Given the description of an element on the screen output the (x, y) to click on. 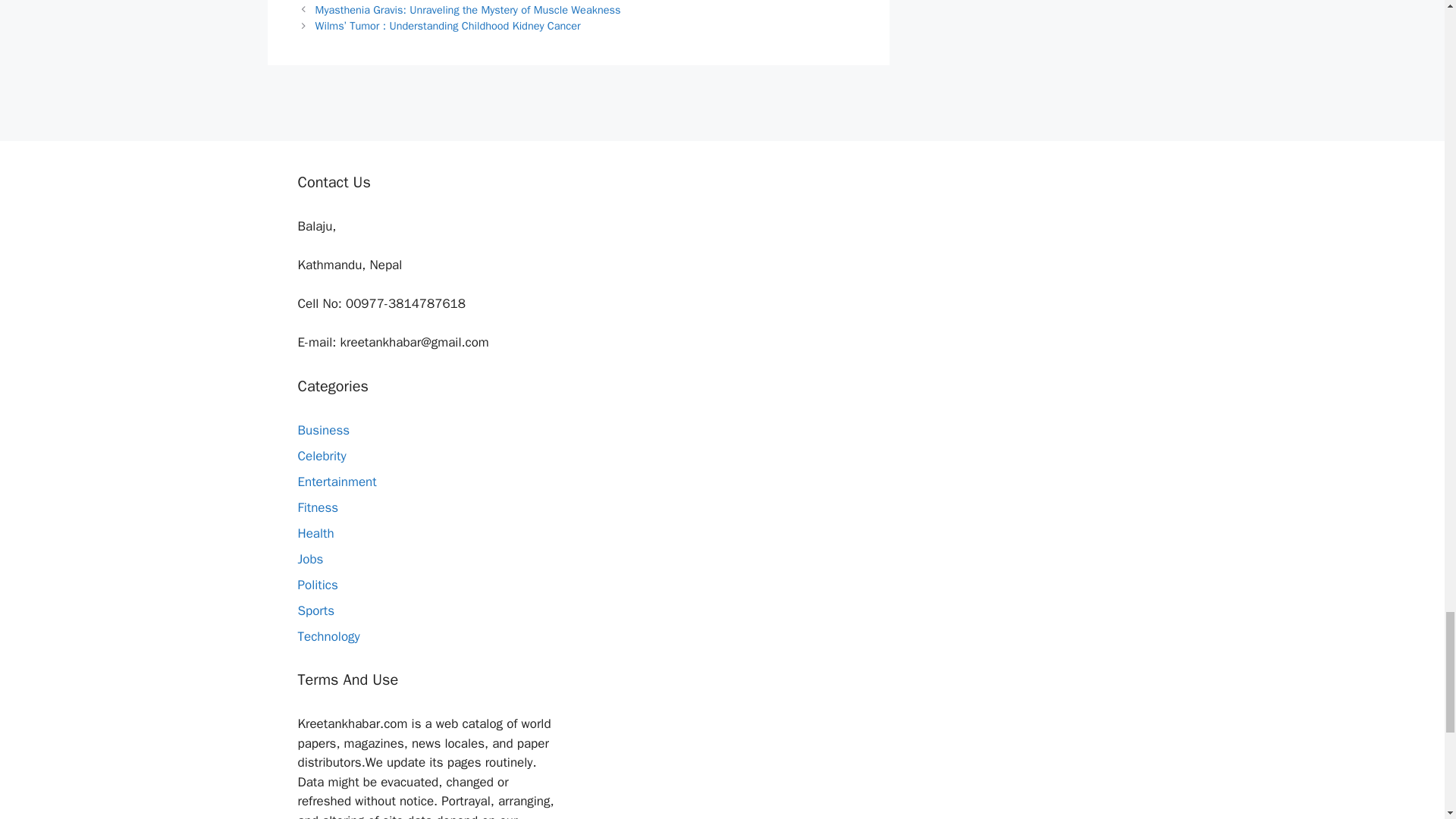
Myasthenia Gravis: Unraveling the Mystery of Muscle Weakness (468, 9)
Entertainment (336, 481)
Celebrity (321, 455)
Business (323, 430)
